Given the description of an element on the screen output the (x, y) to click on. 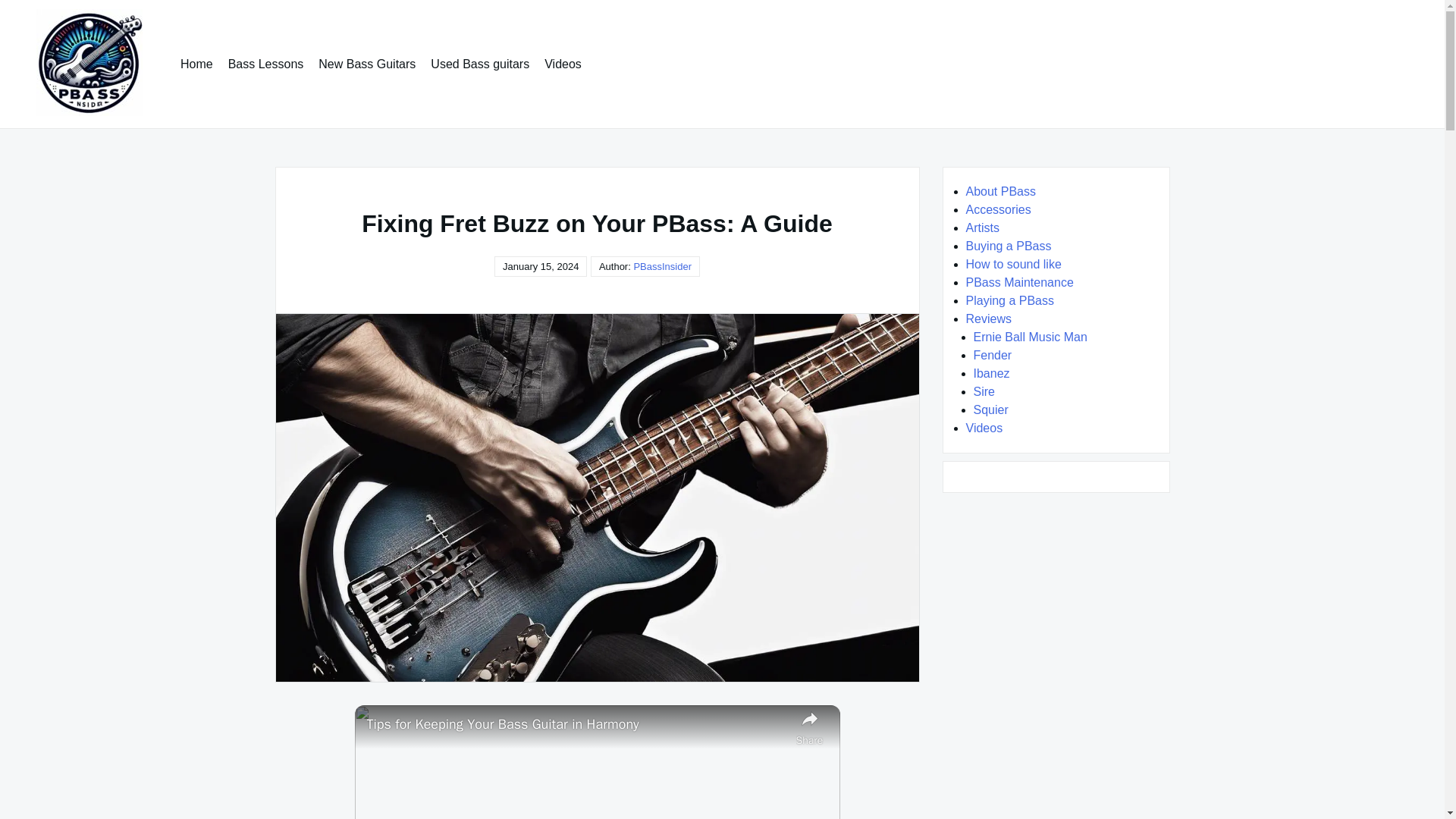
Bass Lessons (266, 63)
share (810, 726)
Playing a PBass (1010, 300)
Videos (563, 63)
New Bass Guitars (367, 63)
Tips for Keeping Your Bass Guitar in Harmony (577, 724)
Home (197, 63)
Reviews (988, 318)
Used Bass guitars (480, 63)
Artists (982, 227)
How to sound like (1013, 264)
PBassInsider (662, 266)
About PBass (1001, 191)
Buying a PBass (1008, 245)
